Given the description of an element on the screen output the (x, y) to click on. 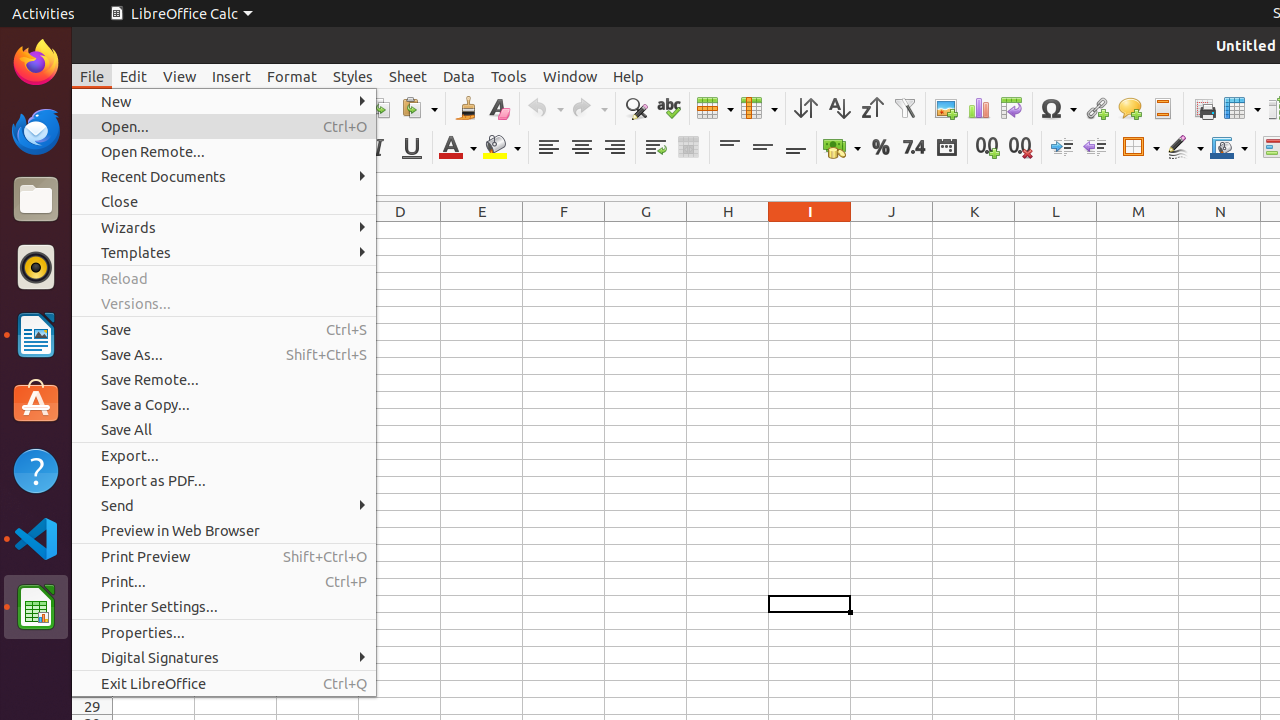
Merge and Center Cells Element type: push-button (688, 147)
Align Bottom Element type: push-button (795, 147)
Save a Copy... Element type: menu-item (224, 404)
Number Element type: push-button (913, 147)
Currency Element type: push-button (842, 147)
